Given the description of an element on the screen output the (x, y) to click on. 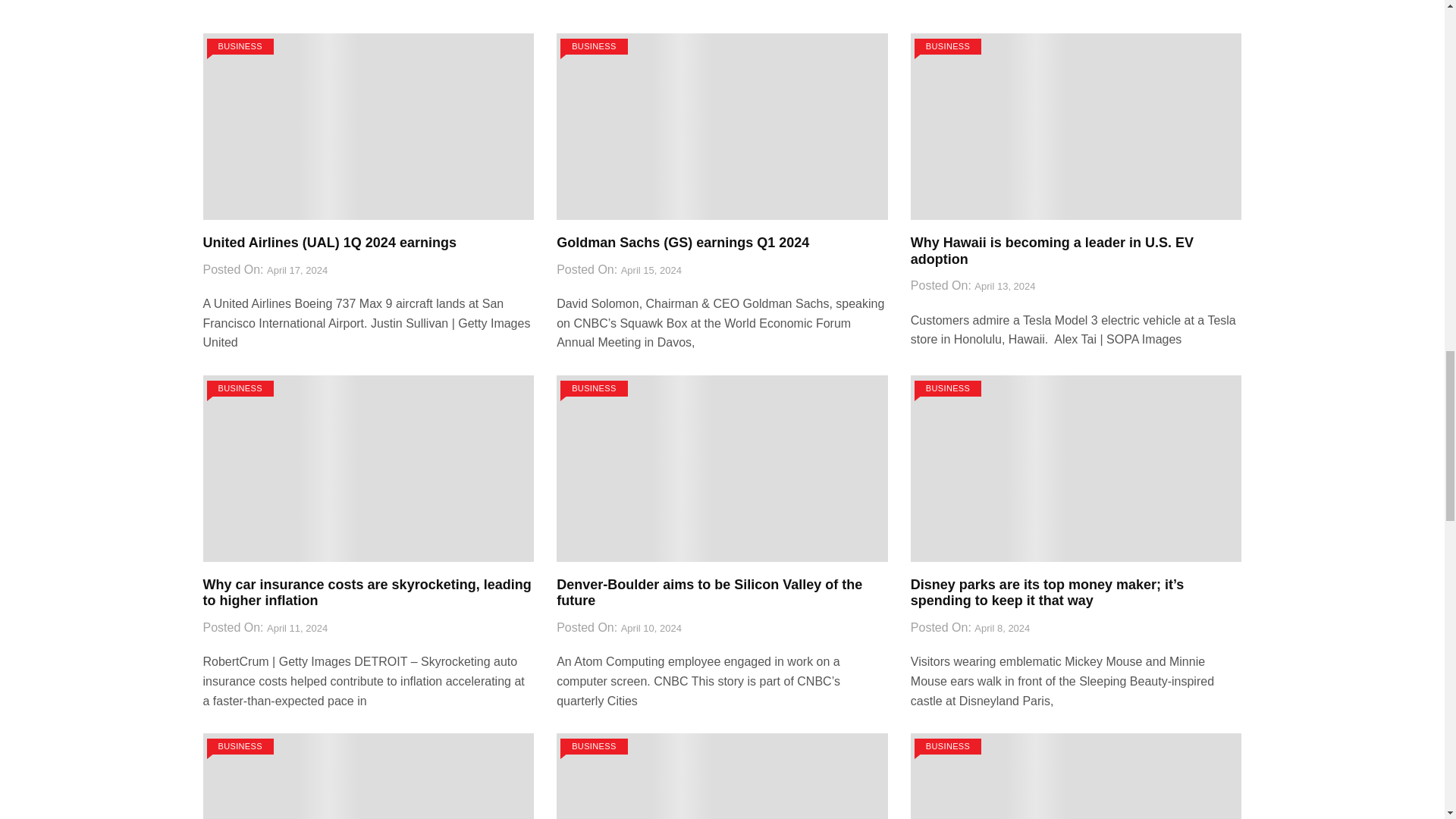
April 17, 2024 (296, 270)
BUSINESS (239, 388)
BUSINESS (239, 46)
Why Hawaii is becoming a leader in U.S. EV adoption (1052, 250)
BUSINESS (947, 46)
April 15, 2024 (651, 270)
BUSINESS (593, 46)
April 13, 2024 (1004, 286)
